Given the description of an element on the screen output the (x, y) to click on. 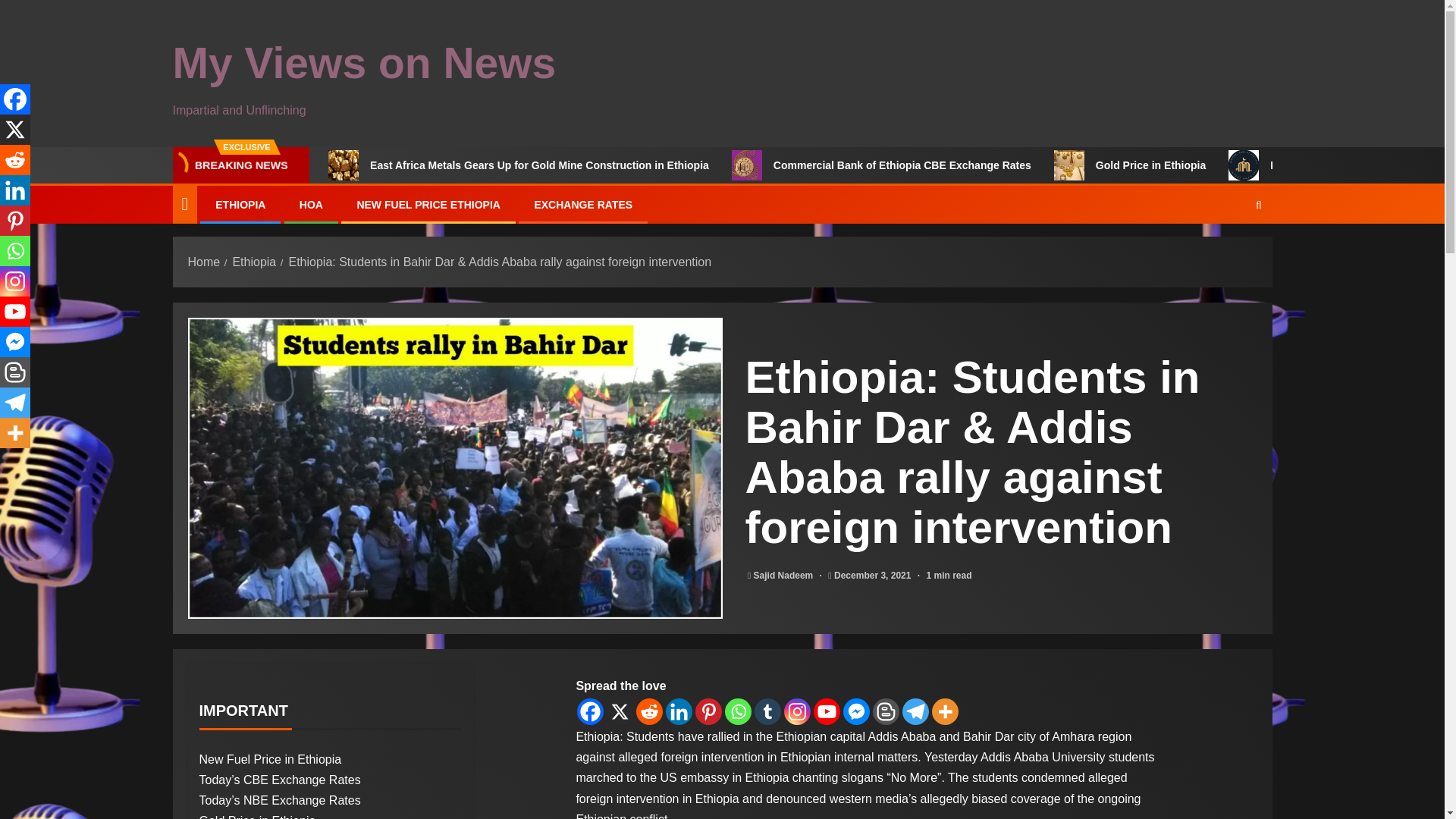
Pinterest (708, 711)
Reddit (15, 159)
HOA (311, 204)
Facebook (590, 711)
Instagram (797, 711)
Facebook (15, 99)
My Views on News (364, 62)
Whatsapp (738, 711)
Youtube (826, 711)
NEW FUEL PRICE ETHIOPIA (428, 204)
EXCHANGE RATES (582, 204)
Blogger Post (885, 711)
Commercial Bank of Ethiopia CBE Exchange Rates (881, 164)
Sajid Nadeem (784, 575)
